Given the description of an element on the screen output the (x, y) to click on. 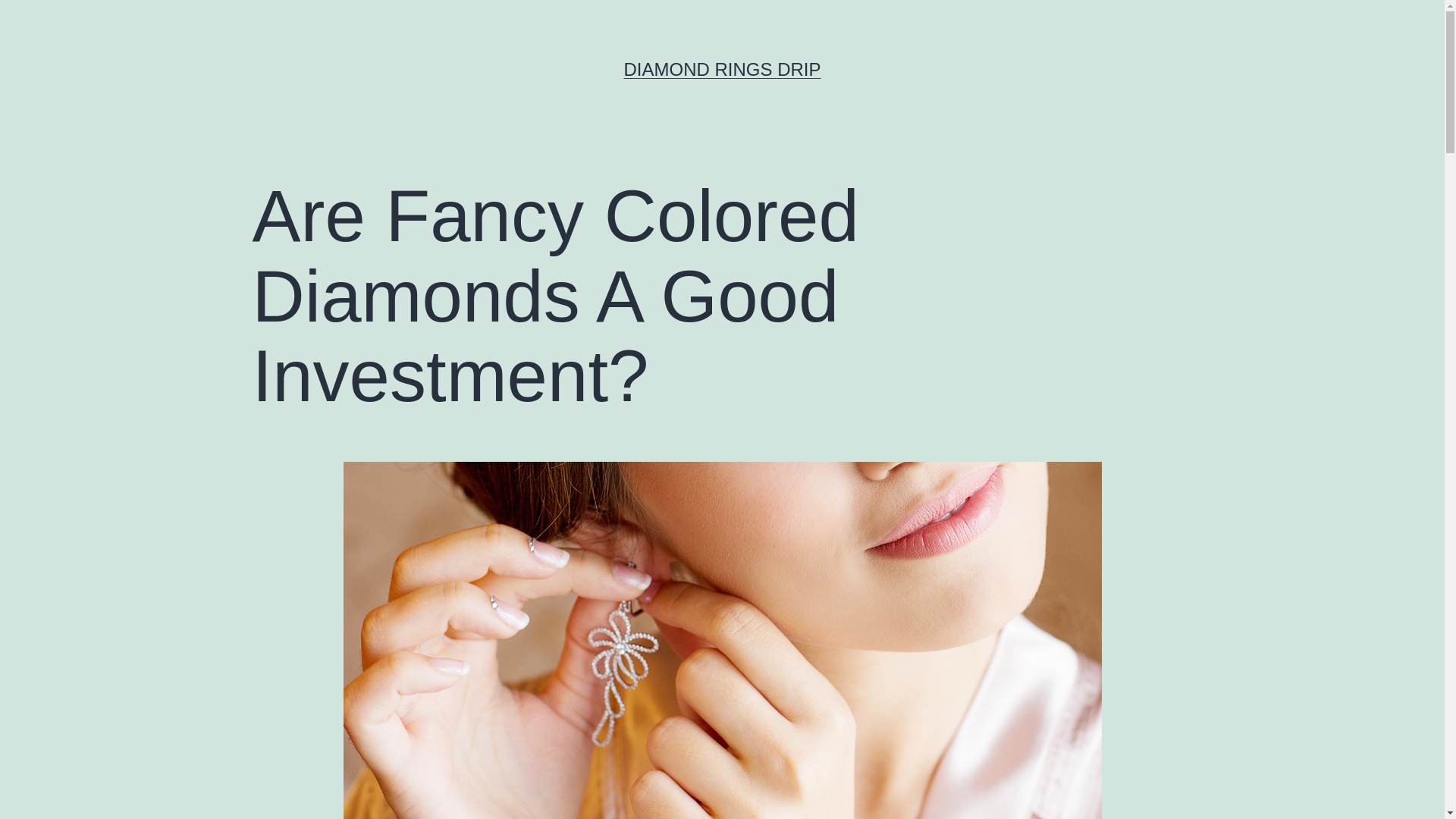
DIAMOND RINGS DRIP (722, 68)
